Given the description of an element on the screen output the (x, y) to click on. 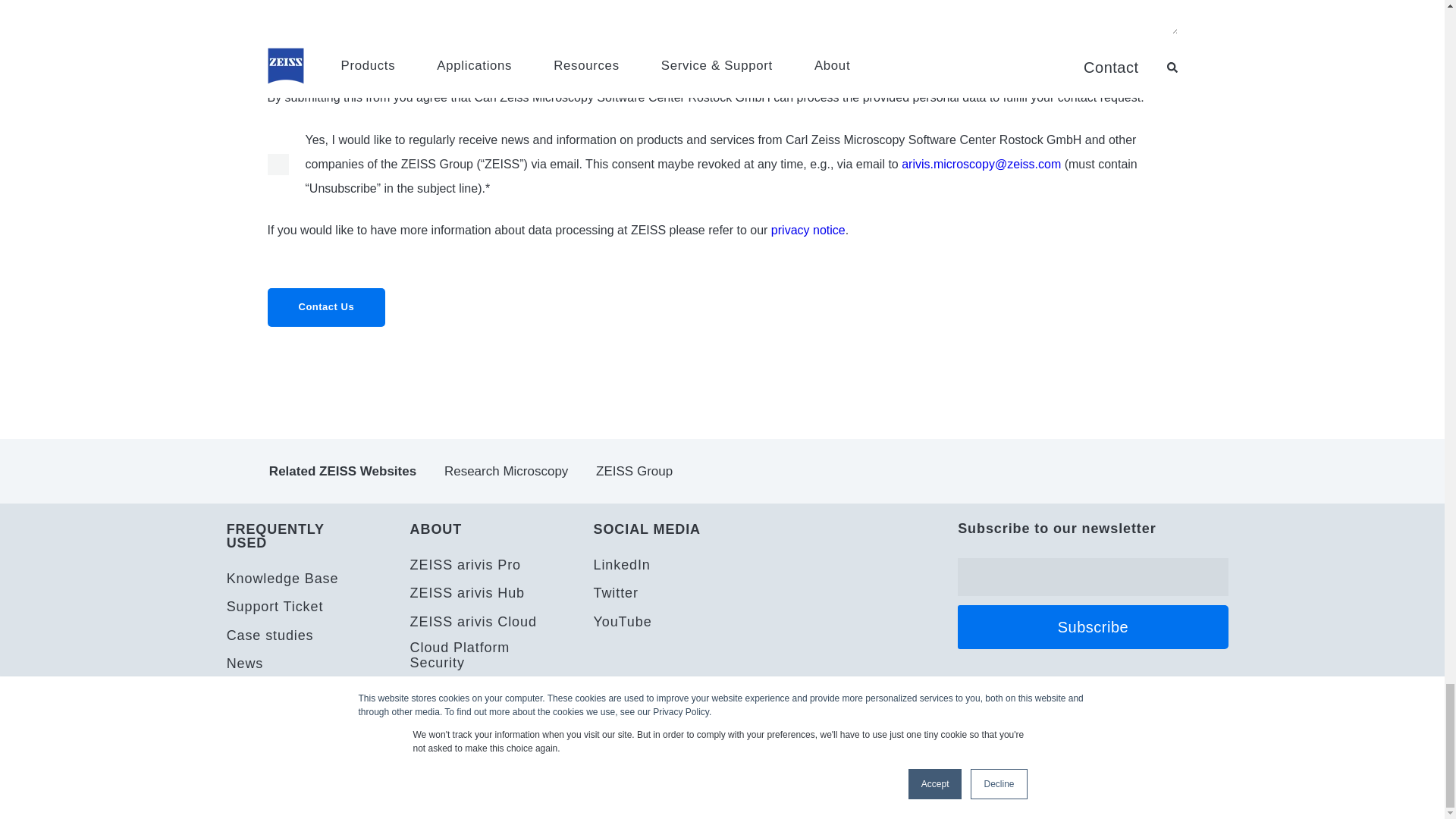
ZEISS Group (690, 471)
Contact Us (325, 307)
Industrial Metrology (496, 471)
Subscribe (1092, 627)
ZEISS Group (624, 471)
